Given the description of an element on the screen output the (x, y) to click on. 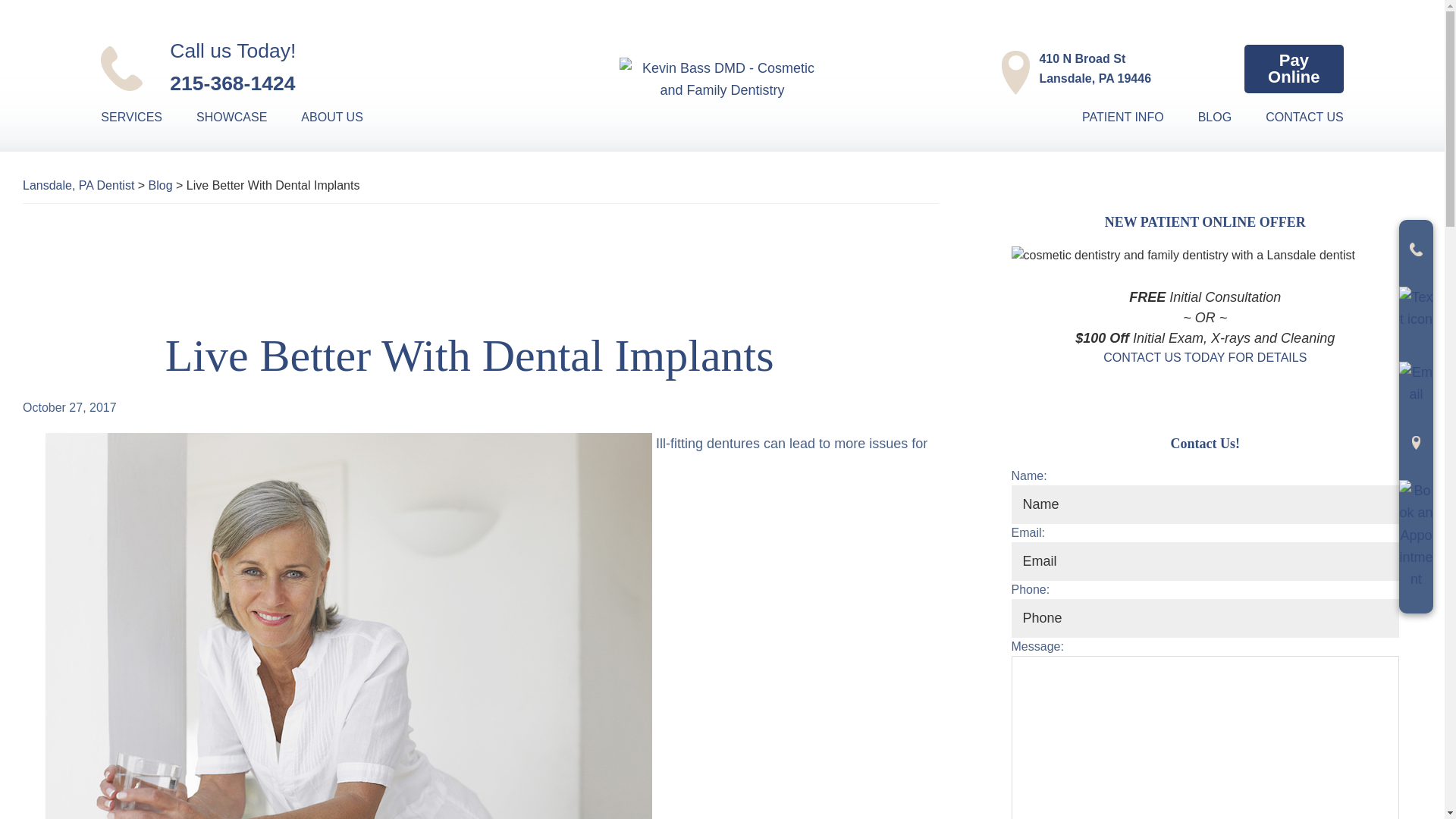
ABOUT US (347, 117)
SERVICES (146, 117)
Pay Online (307, 67)
Skip to primary navigation (1293, 69)
Teeth Implants (1079, 69)
